Given the description of an element on the screen output the (x, y) to click on. 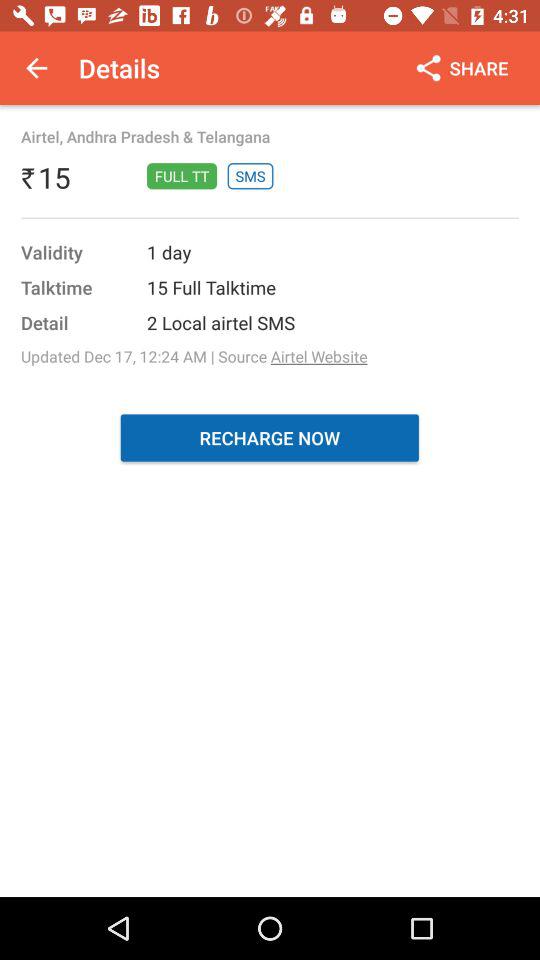
turn on the share icon (460, 67)
